Given the description of an element on the screen output the (x, y) to click on. 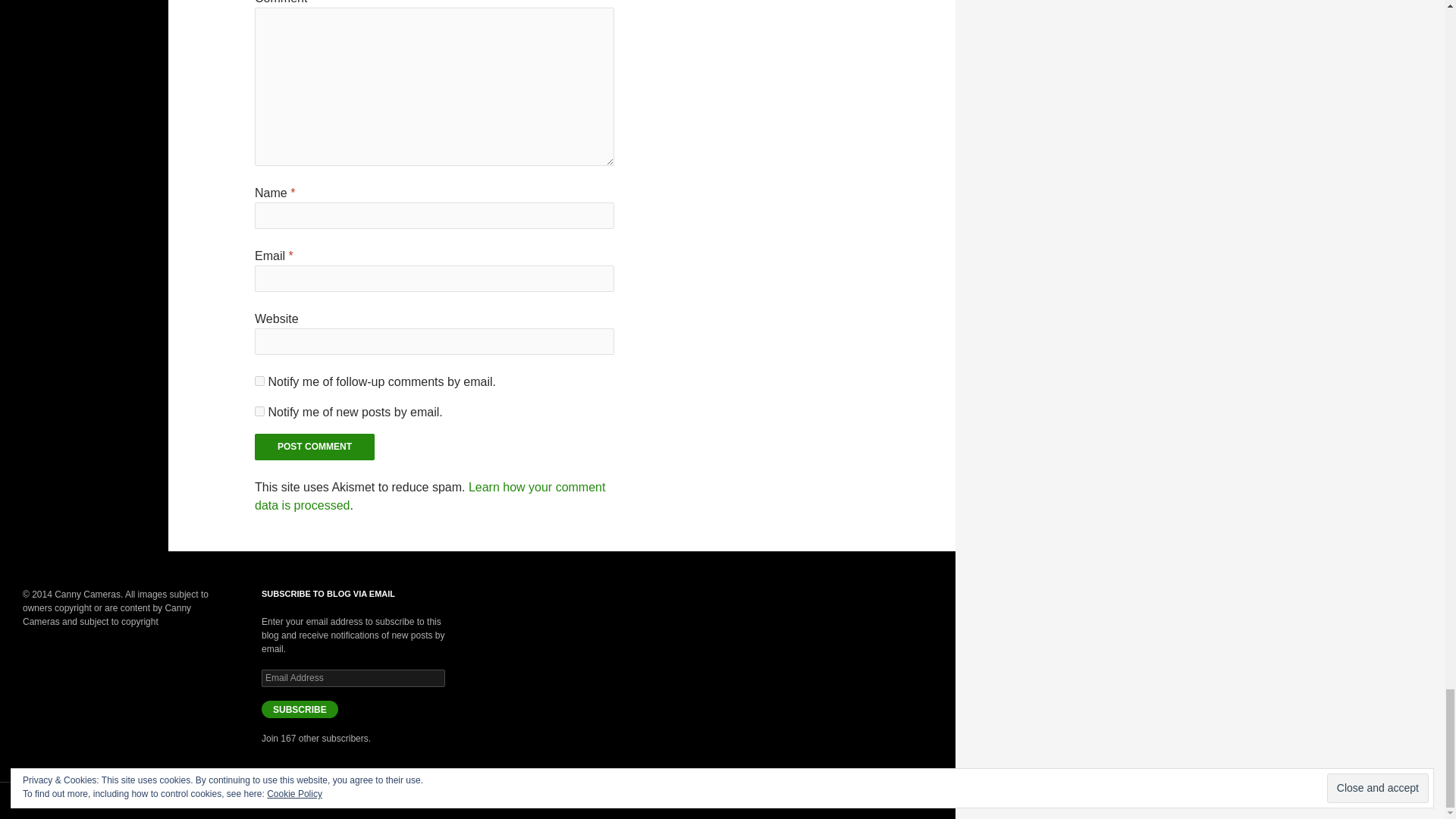
subscribe (259, 380)
subscribe (259, 411)
Post Comment (314, 447)
